Given the description of an element on the screen output the (x, y) to click on. 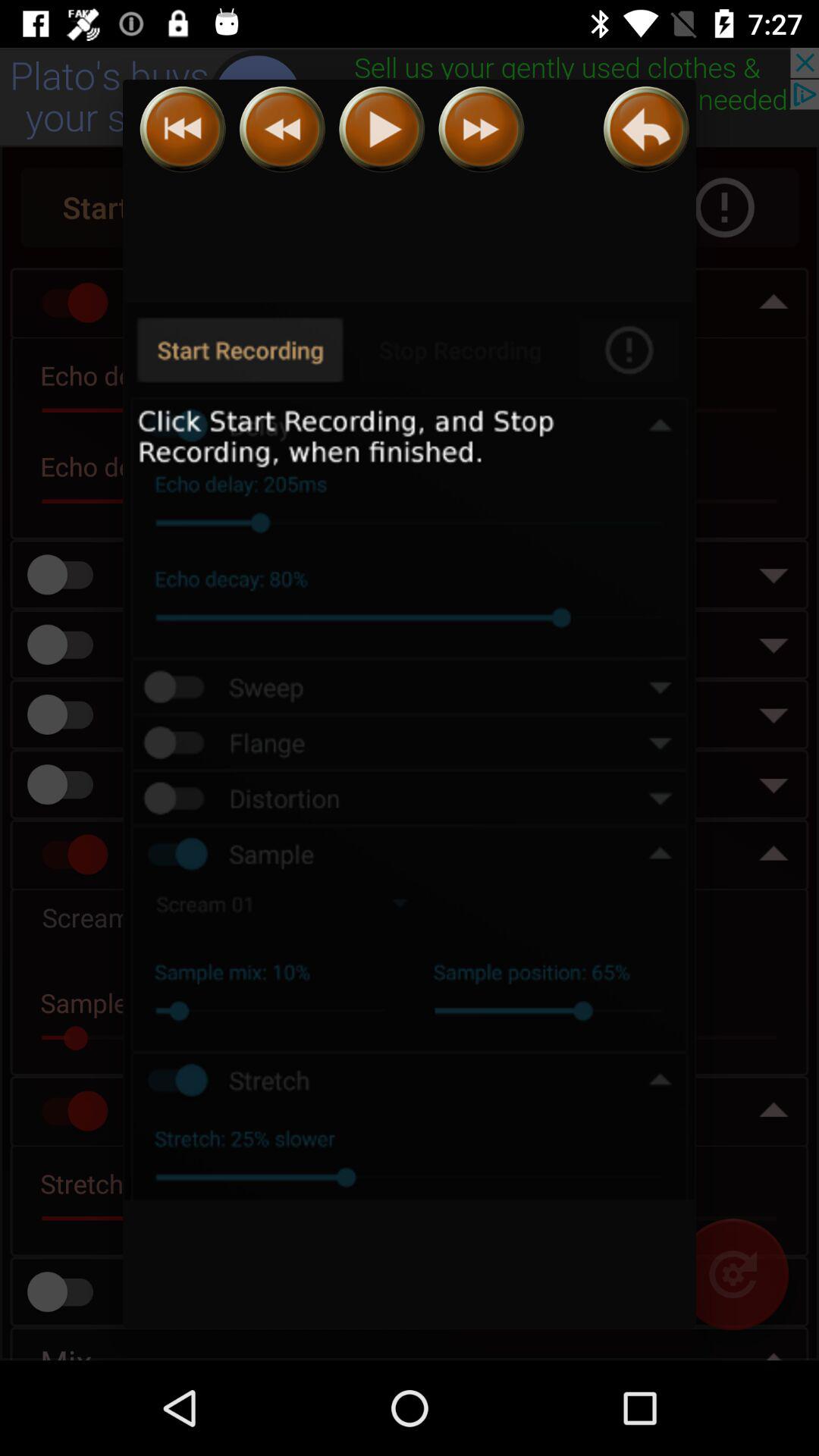
go back button (182, 129)
